Given the description of an element on the screen output the (x, y) to click on. 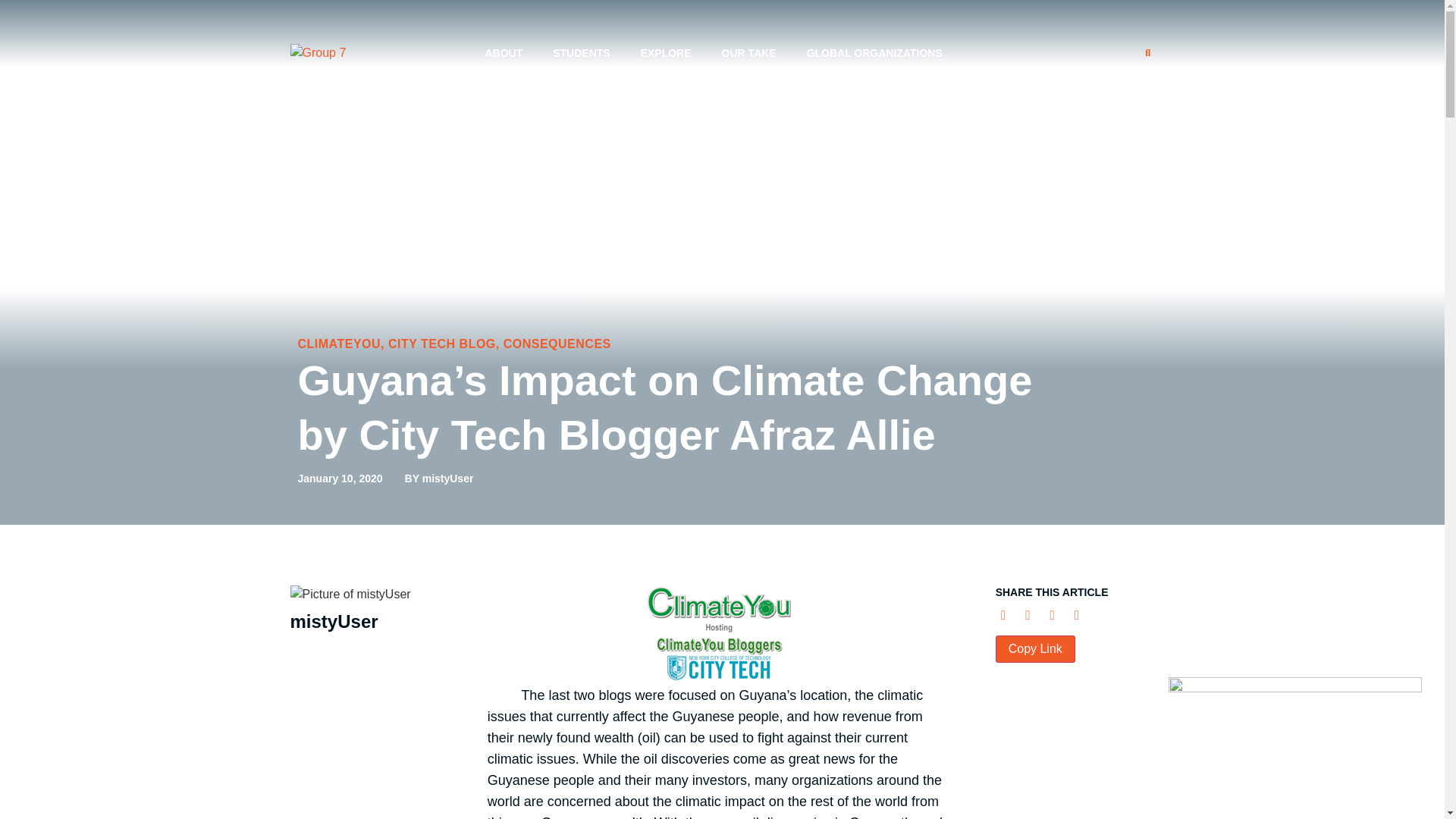
STUDENTS (580, 53)
EXPLORE (666, 53)
ABOUT (502, 53)
BY mistyUser (439, 478)
OUR TAKE (749, 53)
GLOBAL ORGANIZATIONS (875, 53)
CITY TECH BLOG (442, 343)
Copy Link (1035, 648)
CONSEQUENCES (557, 343)
CLIMATEYOU (338, 343)
